Given the description of an element on the screen output the (x, y) to click on. 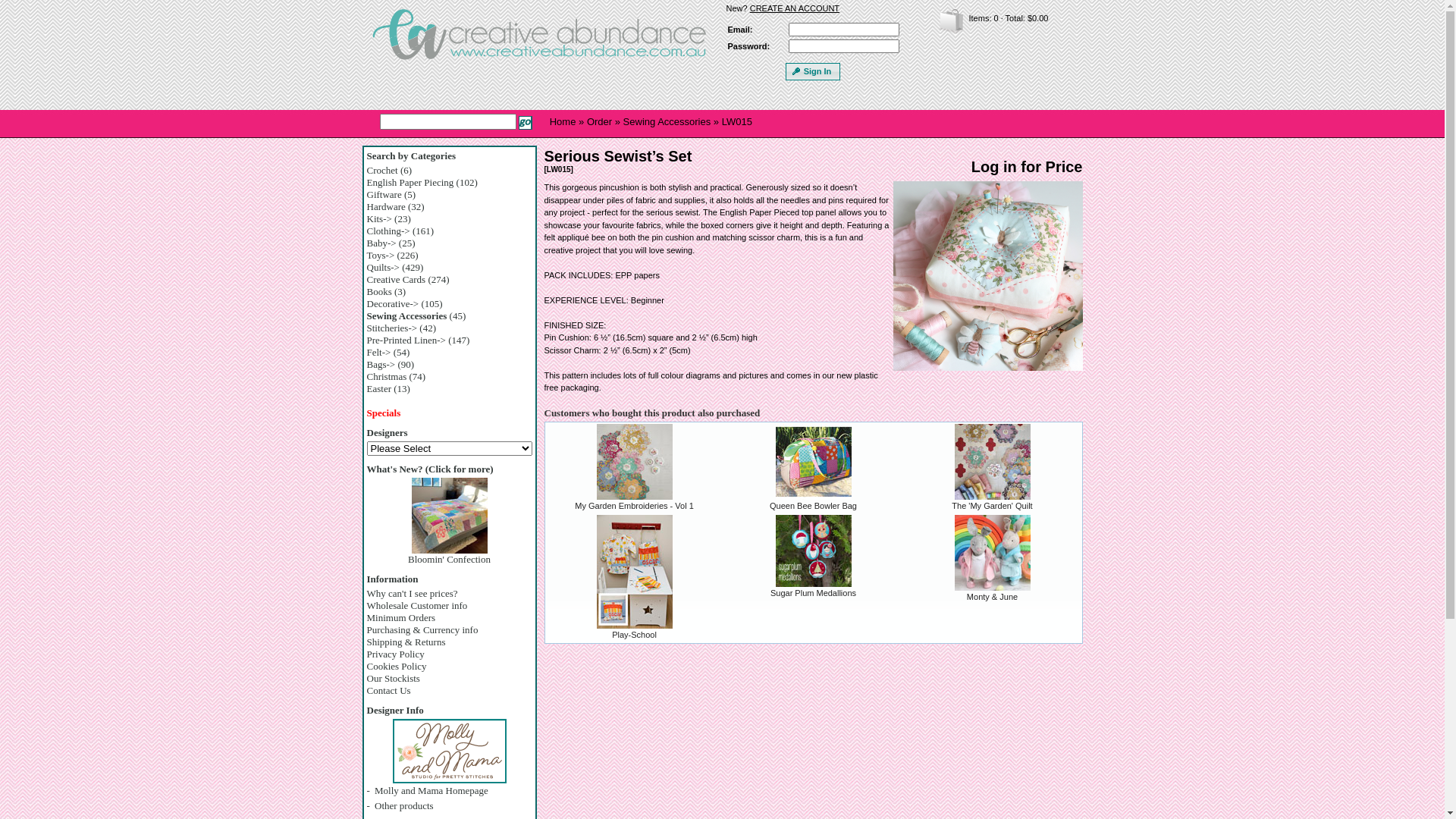
Queen Bee Bowler Bag Element type: text (812, 505)
Other products Element type: text (403, 804)
Sewing Accessories Element type: text (407, 315)
LW015 Element type: text (736, 121)
Crochet Element type: text (382, 169)
Clothing-> Element type: text (388, 230)
Books Element type: text (379, 291)
The 'My Garden' Quilt Element type: text (991, 505)
Play-School Element type: text (633, 634)
Creative Abundance Element type: hover (534, 39)
Stitcheries-> Element type: text (392, 327)
Home Element type: text (562, 121)
Sewing Accessories Element type: text (667, 121)
Why can't I see prices? Element type: text (412, 593)
Giftware Element type: text (384, 194)
Pre-Printed Linen-> Element type: text (406, 339)
Felt-> Element type: text (379, 351)
Sign In Element type: text (812, 71)
Play-School Element type: hover (633, 571)
Bloomin' Confection Element type: hover (448, 515)
Kits-> Element type: text (379, 218)
Cookies Policy Element type: text (396, 665)
Bags-> Element type: text (381, 364)
Creative Cards Element type: text (396, 279)
Molly and Mama Element type: hover (449, 750)
Our Stockists Element type: text (393, 678)
Queen Bee Bowler Bag Element type: hover (812, 461)
My Garden Embroideries - Vol 1 Element type: text (633, 505)
Privacy Policy Element type: text (395, 653)
Shipping & Returns Element type: text (406, 641)
Bloomin' Confection Element type: text (448, 558)
Wholesale Customer info Element type: text (417, 605)
Monty & June Element type: text (991, 596)
Quilts-> Element type: text (383, 267)
The 'My Garden' Quilt Element type: hover (991, 461)
Decorative-> Element type: text (393, 303)
Monty & June Element type: hover (991, 552)
Sugar Plum Medallions Element type: hover (812, 550)
Hardware Element type: text (386, 206)
Specials Element type: text (384, 412)
Molly and Mama Homepage Element type: text (431, 790)
Sugar Plum Medallions Element type: text (813, 592)
My Garden Embroideries - Vol 1 Element type: hover (633, 461)
Order Element type: text (598, 121)
 Quick Find  Element type: hover (525, 122)
Purchasing & Currency info Element type: text (422, 629)
Toys-> Element type: text (381, 254)
Easter Element type: text (379, 388)
What's New? (Click for more) Element type: text (430, 468)
Minimum Orders Element type: text (401, 617)
Contact Us Element type: text (389, 690)
Christmas Element type: text (387, 376)
English Paper Piecing Element type: text (410, 182)
CREATE AN ACCOUNT Element type: text (794, 7)
Baby-> Element type: text (381, 242)
